Given the description of an element on the screen output the (x, y) to click on. 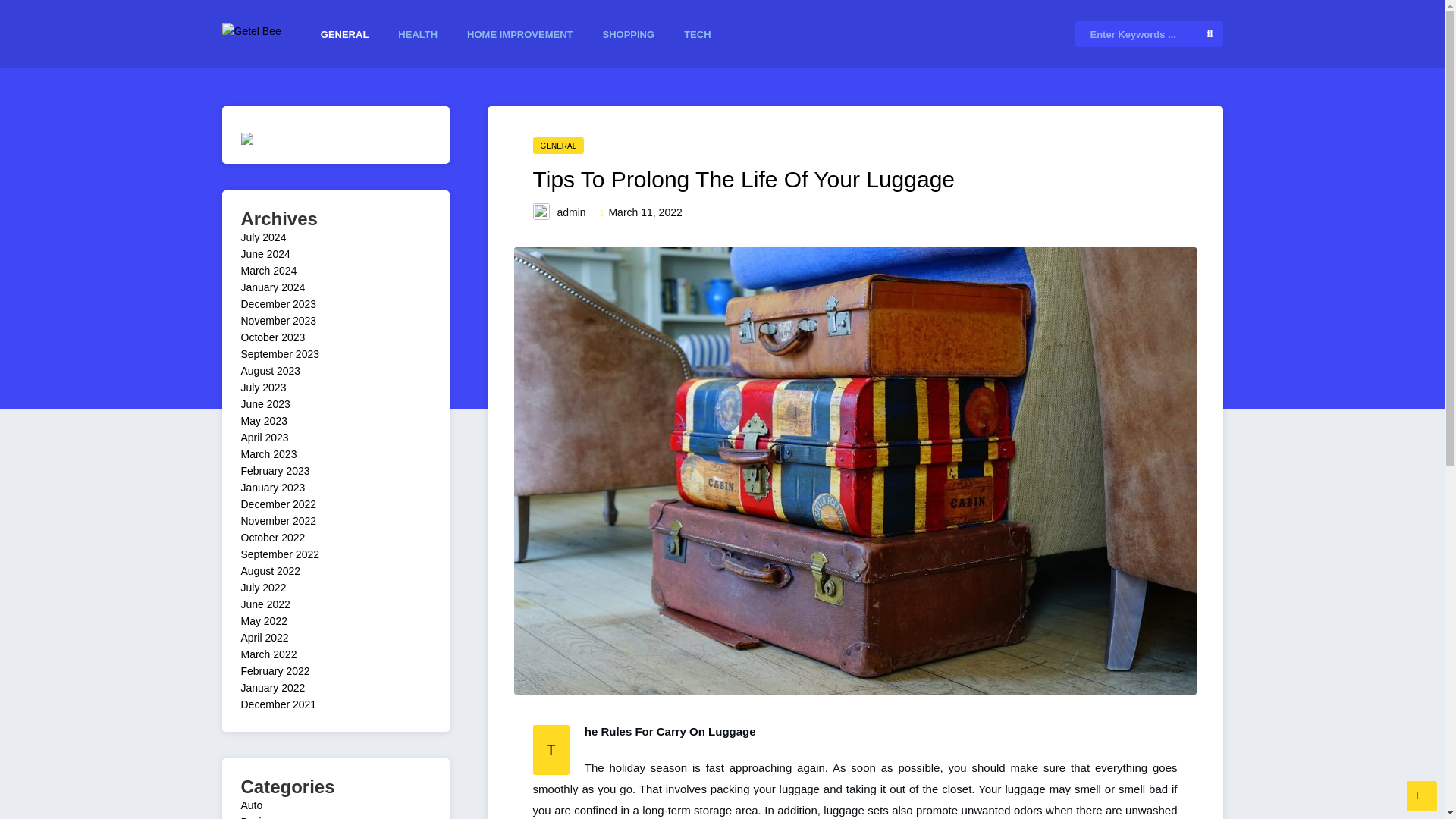
April 2022 (264, 637)
December 2022 (279, 503)
March 2023 (269, 453)
July 2022 (263, 587)
July 2024 (263, 236)
HEALTH (417, 34)
December 2023 (279, 304)
January 2022 (273, 687)
October 2023 (273, 337)
June 2023 (265, 404)
